Given the description of an element on the screen output the (x, y) to click on. 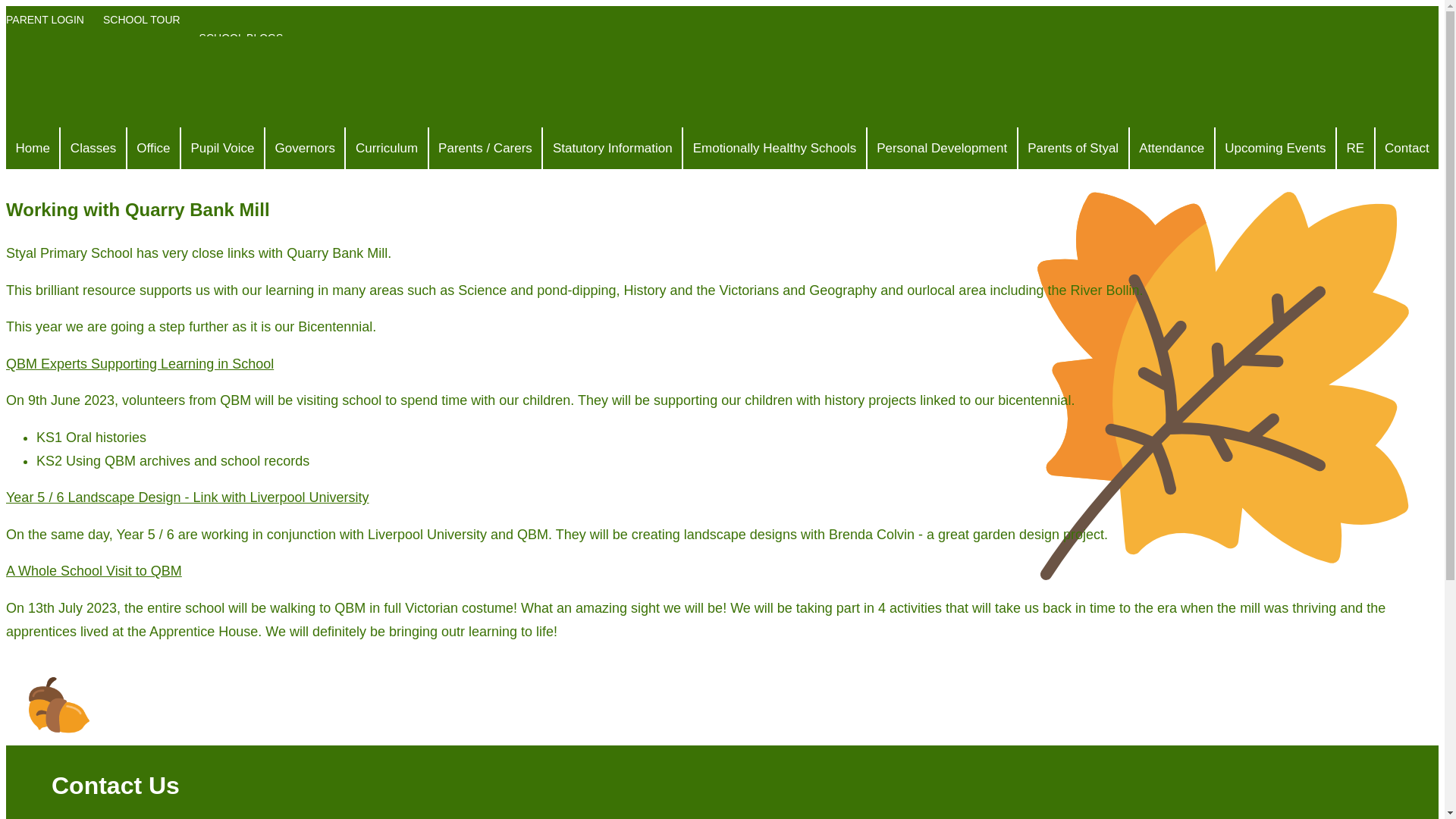
SCHOOL BLOGS (245, 37)
Classes (93, 147)
Home (32, 147)
Pupil Voice (221, 147)
PARENT LOGIN (48, 28)
Styal Primary School (234, 81)
Office (153, 147)
SCHOOL TOUR (145, 28)
